Given the description of an element on the screen output the (x, y) to click on. 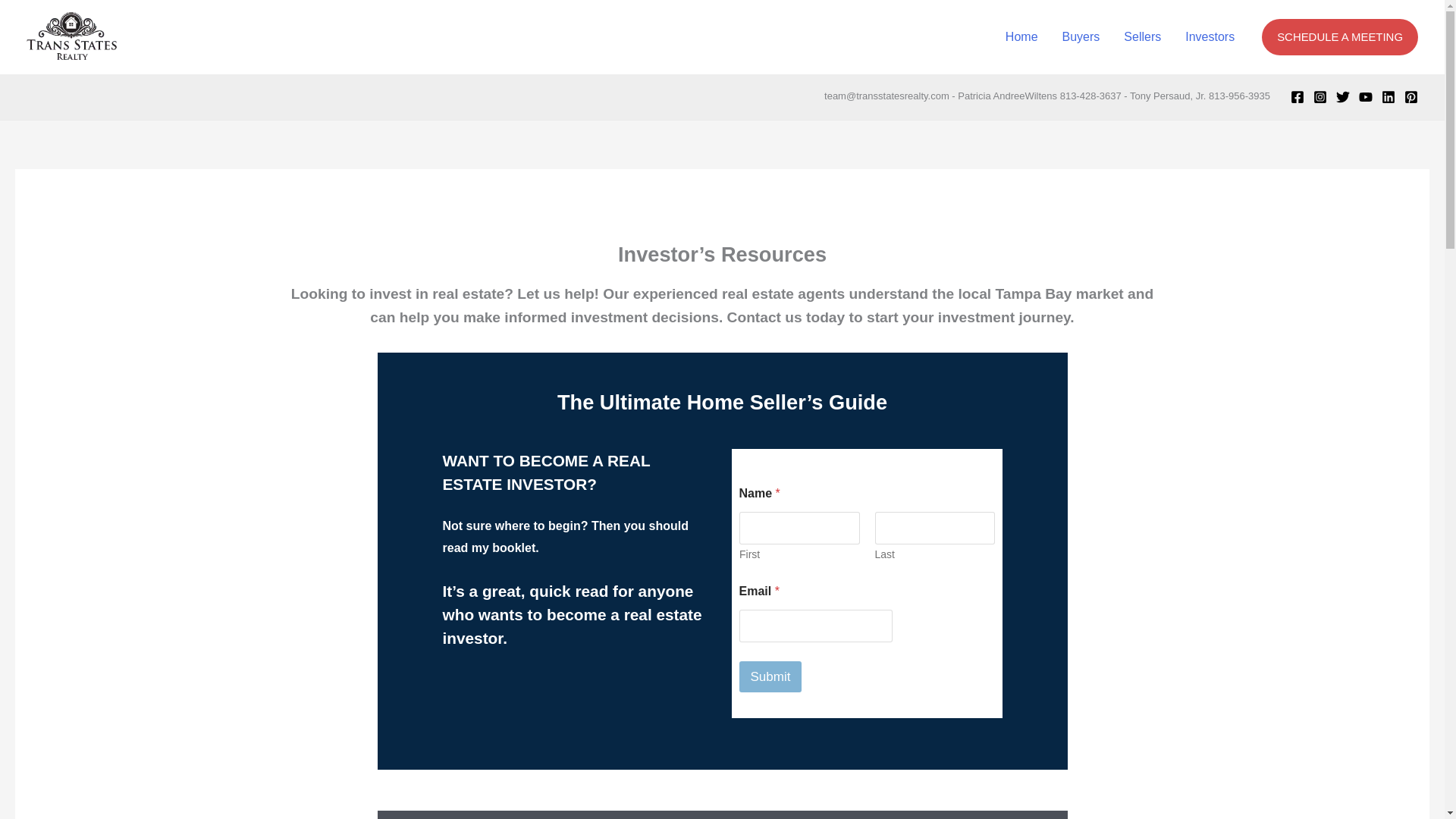
Buyers (1080, 36)
Investors (1209, 36)
SCHEDULE A MEETING (1340, 36)
Sellers (1142, 36)
Home (1020, 36)
Submit (770, 676)
